Given the description of an element on the screen output the (x, y) to click on. 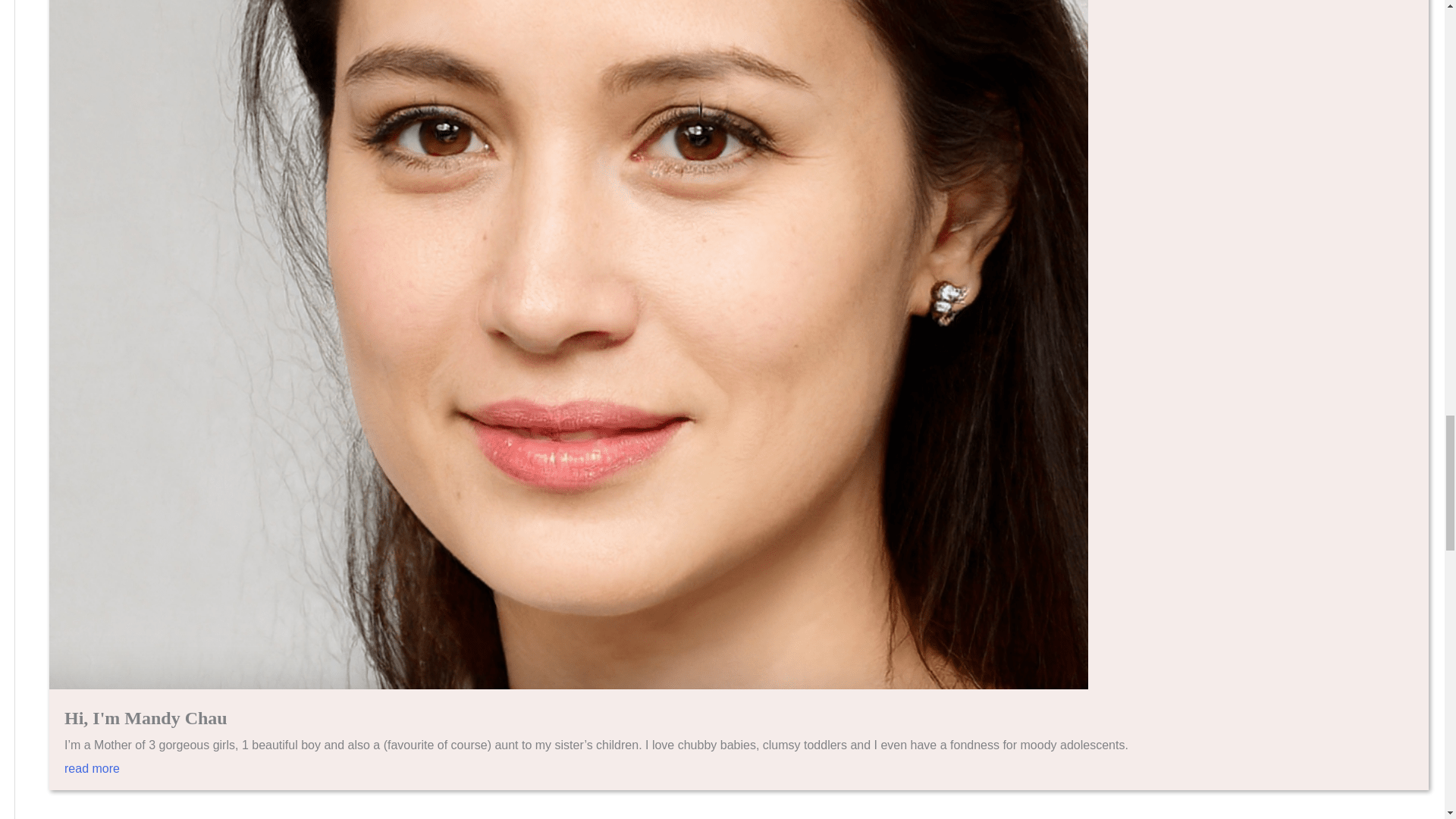
read more (738, 776)
